Given the description of an element on the screen output the (x, y) to click on. 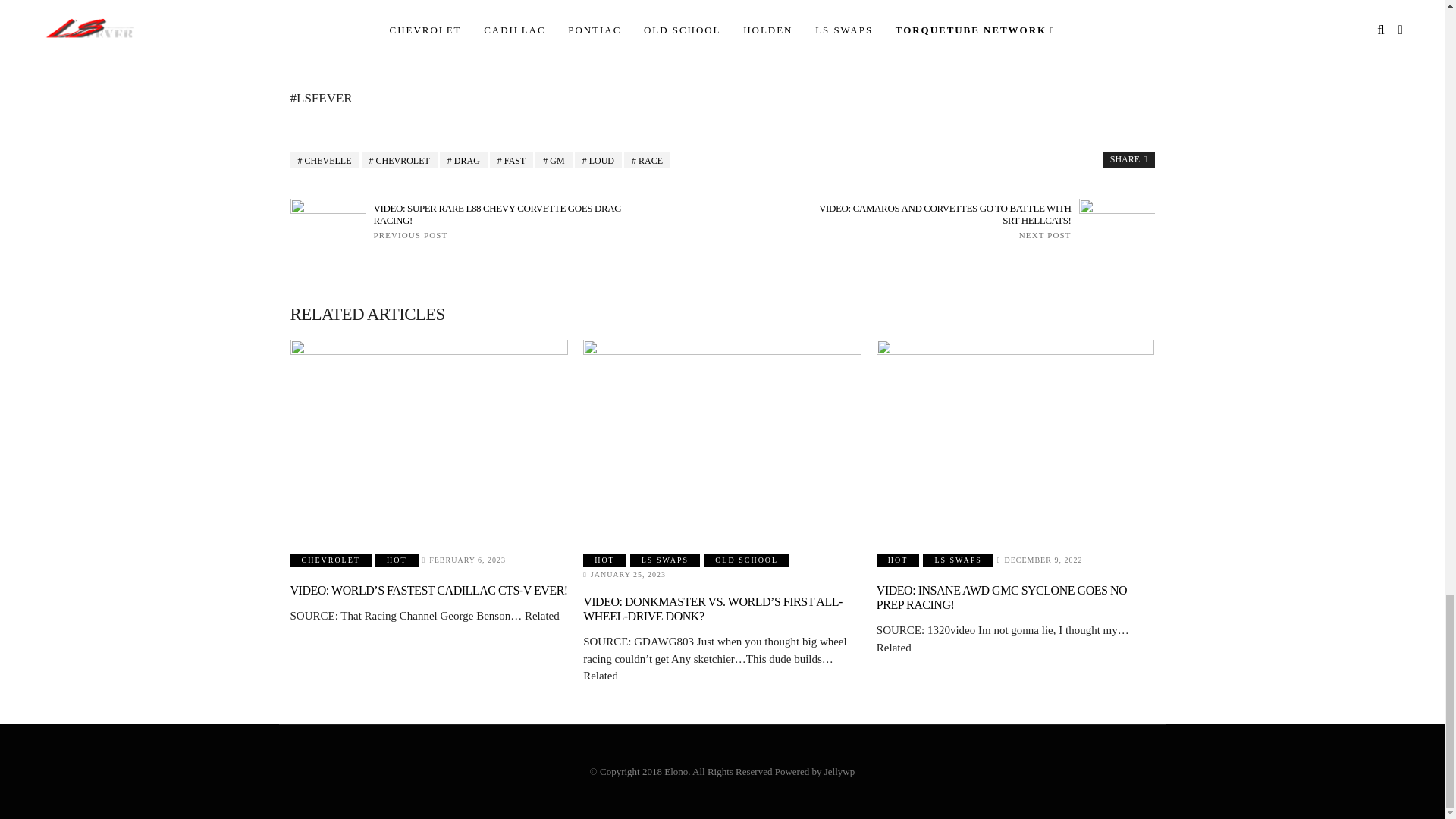
VIDEO: Insane AWD GMC Syclone Goes No Prep Racing! (1015, 436)
